Given the description of an element on the screen output the (x, y) to click on. 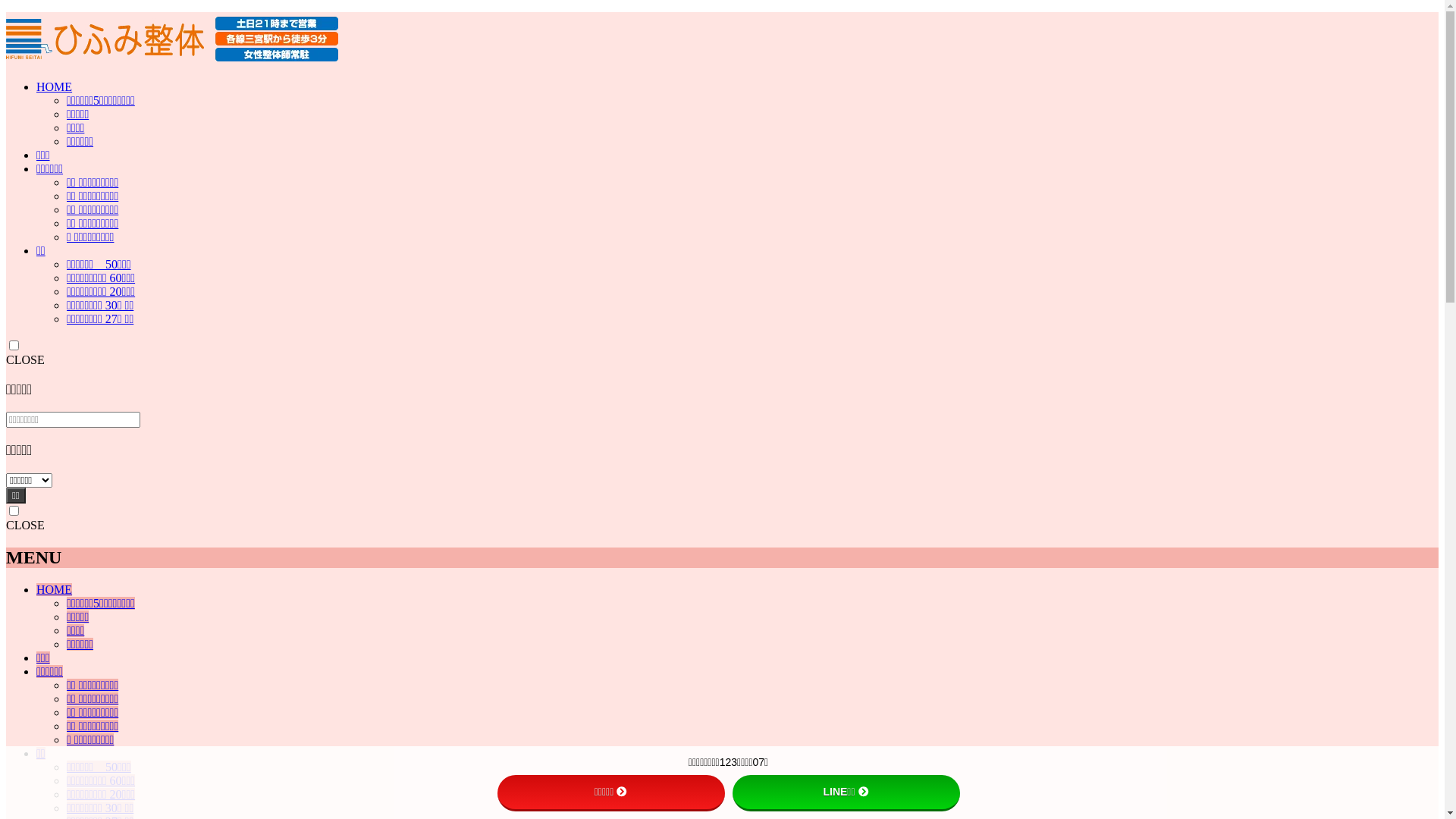
HOME Element type: text (54, 86)
HOME Element type: text (54, 589)
